Given the description of an element on the screen output the (x, y) to click on. 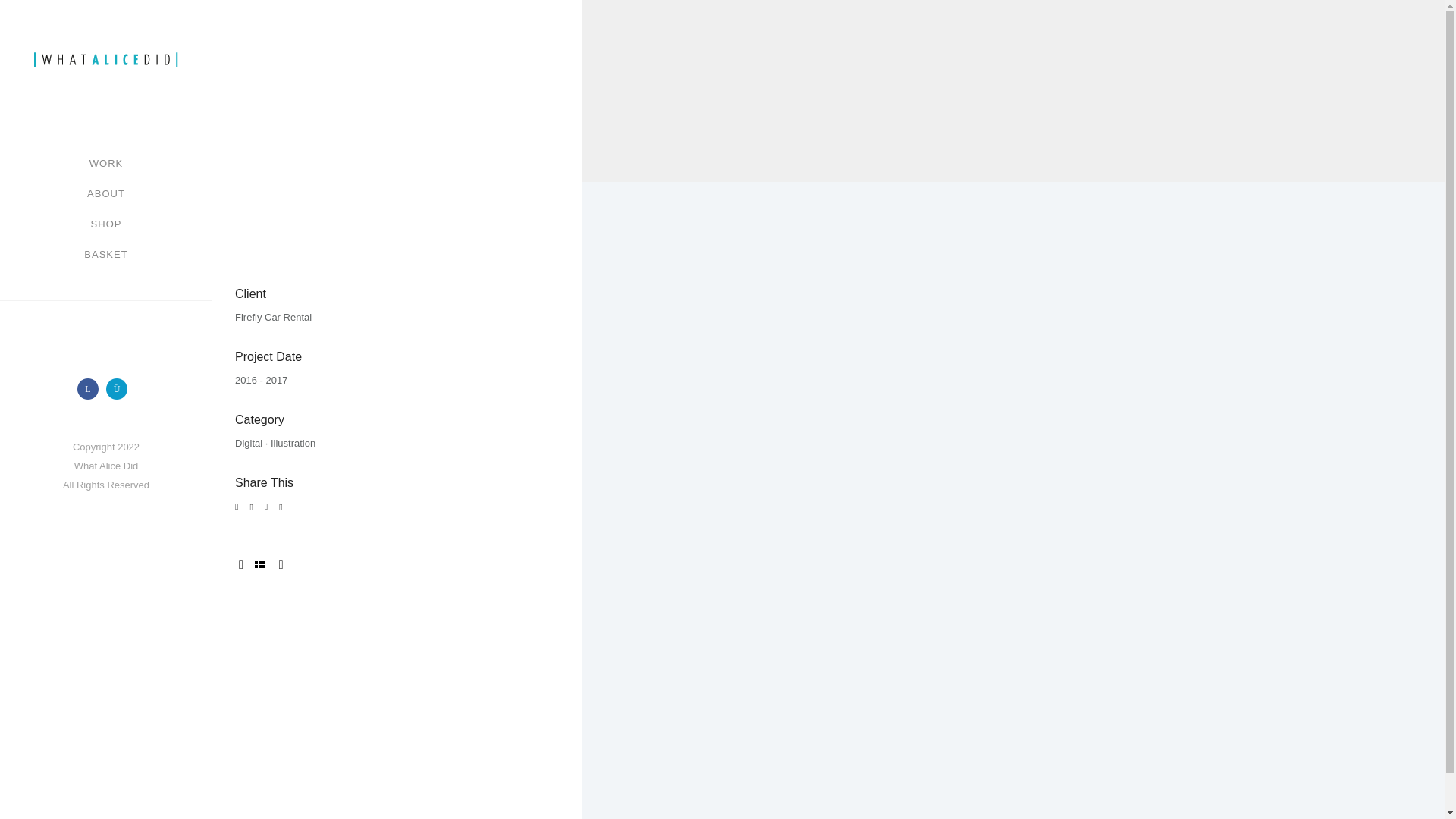
Shop (106, 224)
ABOUT (106, 194)
Basket (106, 254)
Digital (248, 442)
WORK (105, 163)
About (106, 194)
Illustration (292, 442)
SHOP (106, 224)
BASKET (106, 254)
Work (105, 163)
